Given the description of an element on the screen output the (x, y) to click on. 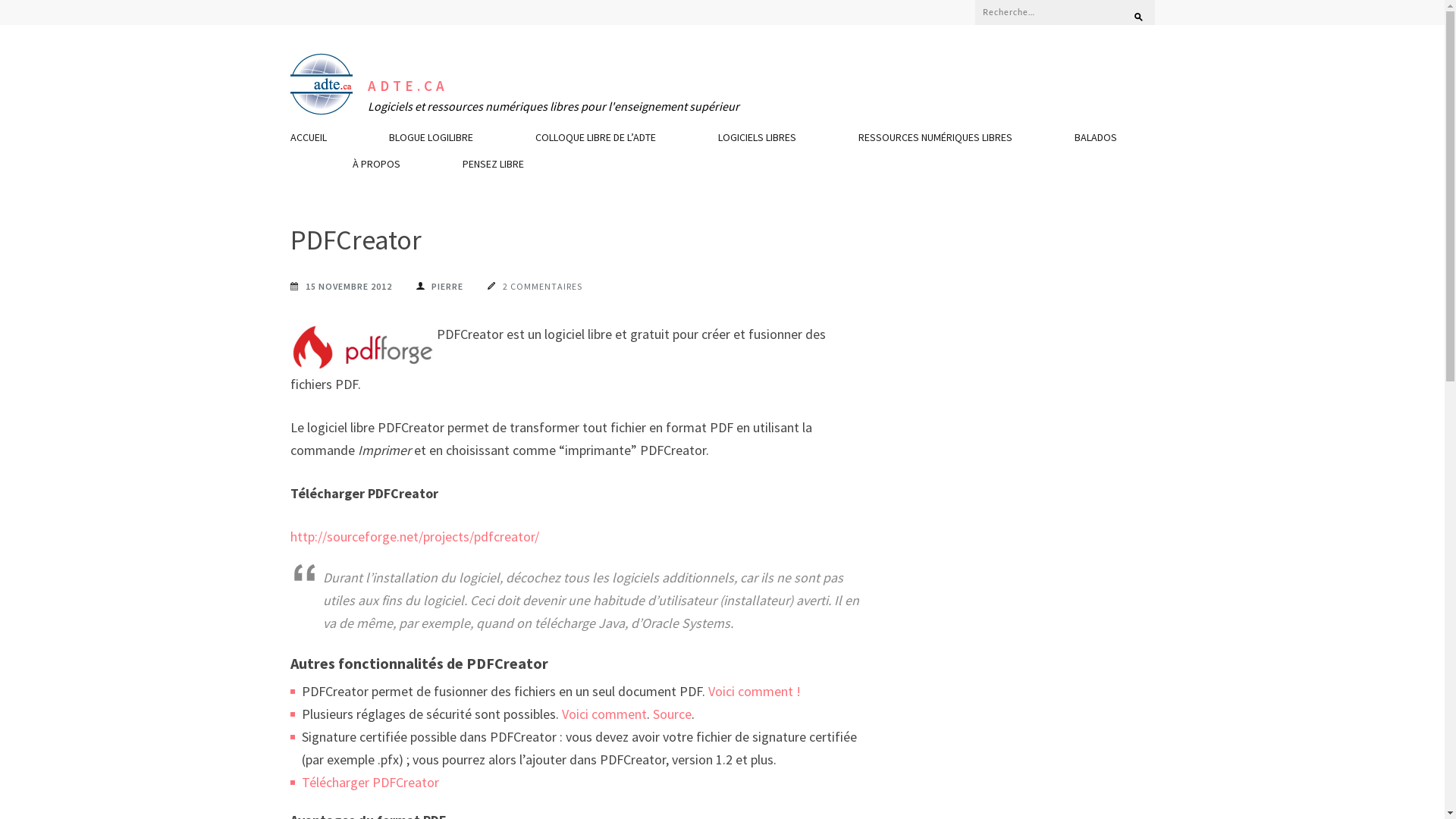
BALADOS Element type: text (1094, 140)
PENSEZ LIBRE Element type: text (493, 167)
Source Element type: text (671, 713)
2 COMMENTAIRES Element type: text (533, 286)
LOGICIELS LIBRES Element type: text (756, 140)
http://sourceforge.net/projects/pdfcreator/ Element type: text (413, 536)
pdfforge Element type: hover (361, 348)
Rechercher Element type: text (1131, 11)
ADTE.CA Element type: text (407, 85)
BLOGUE LOGILIBRE Element type: text (430, 140)
Voici comment ! Element type: text (754, 690)
ACCUEIL Element type: text (307, 140)
15 NOVEMBRE 2012 Element type: text (340, 286)
Voici comment Element type: text (603, 713)
PIERRE Element type: text (438, 286)
